Given the description of an element on the screen output the (x, y) to click on. 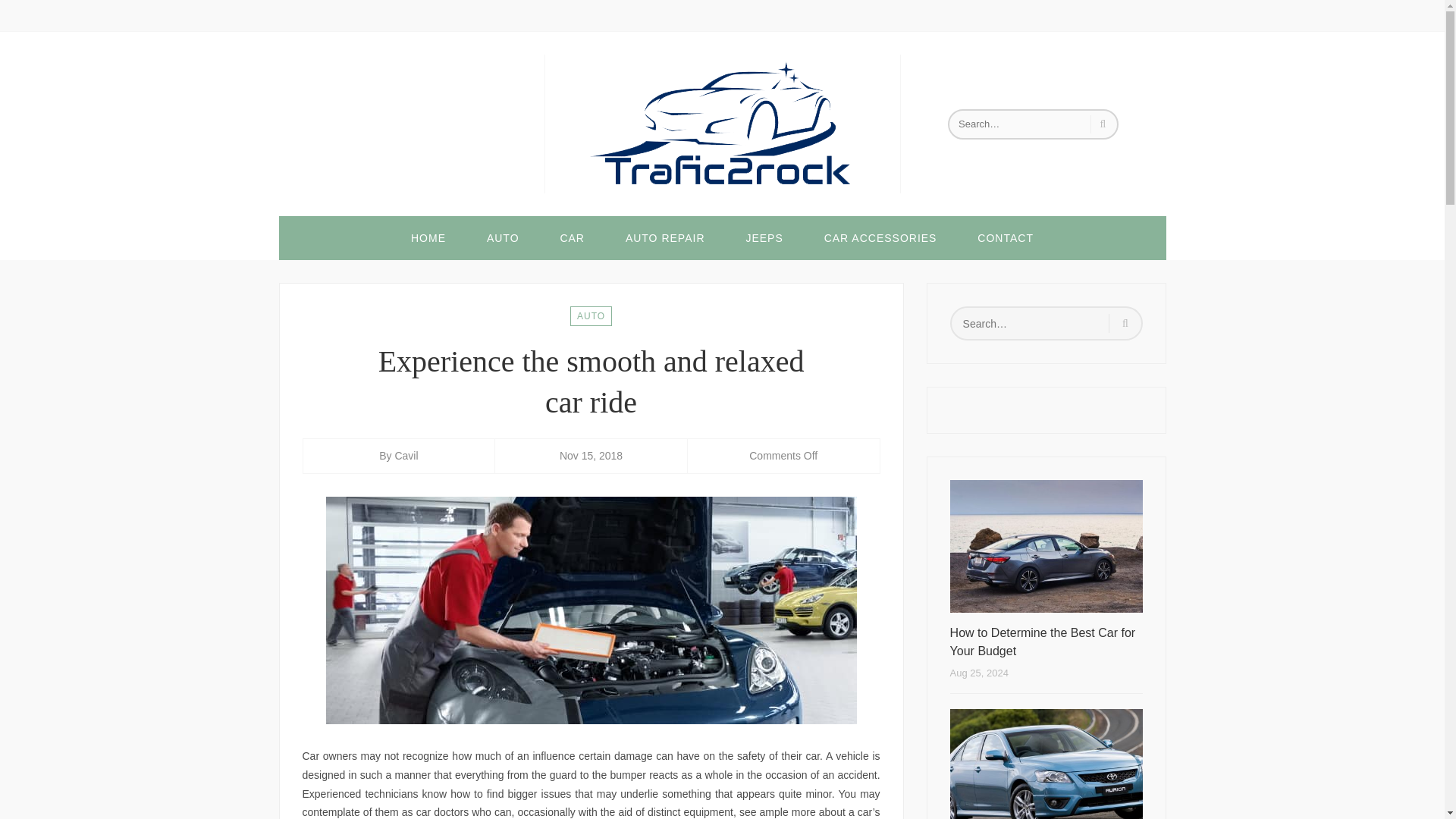
CAR (572, 238)
AUTO (502, 238)
Cavil (405, 455)
How to Determine the Best Car for Your Budget (1046, 642)
JEEPS (764, 238)
CONTACT (1005, 238)
HOME (427, 238)
Posts by Cavil (405, 455)
Nov 15, 2018 (591, 455)
AUTO (590, 315)
